Given the description of an element on the screen output the (x, y) to click on. 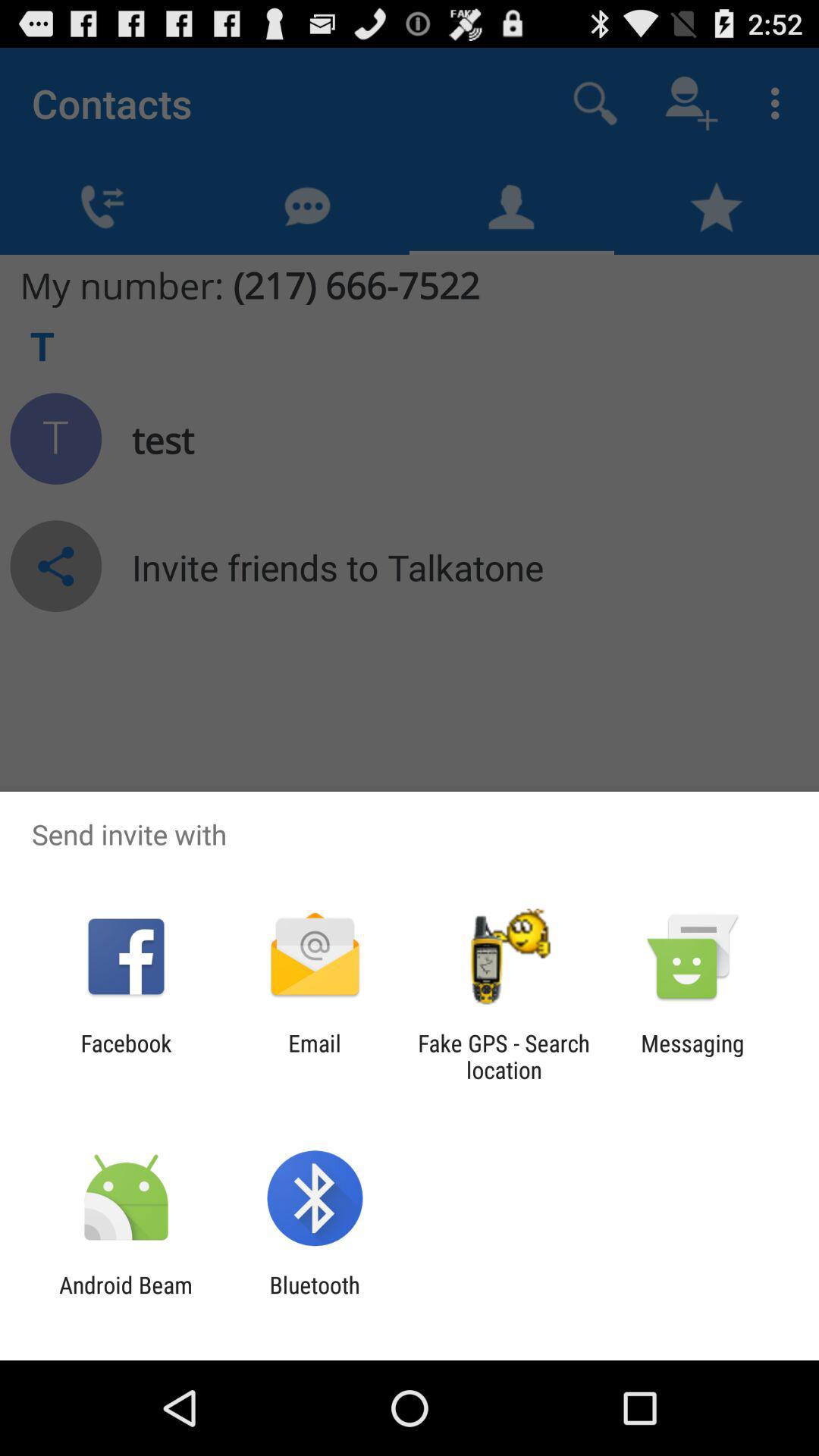
launch the item at the bottom right corner (692, 1056)
